Given the description of an element on the screen output the (x, y) to click on. 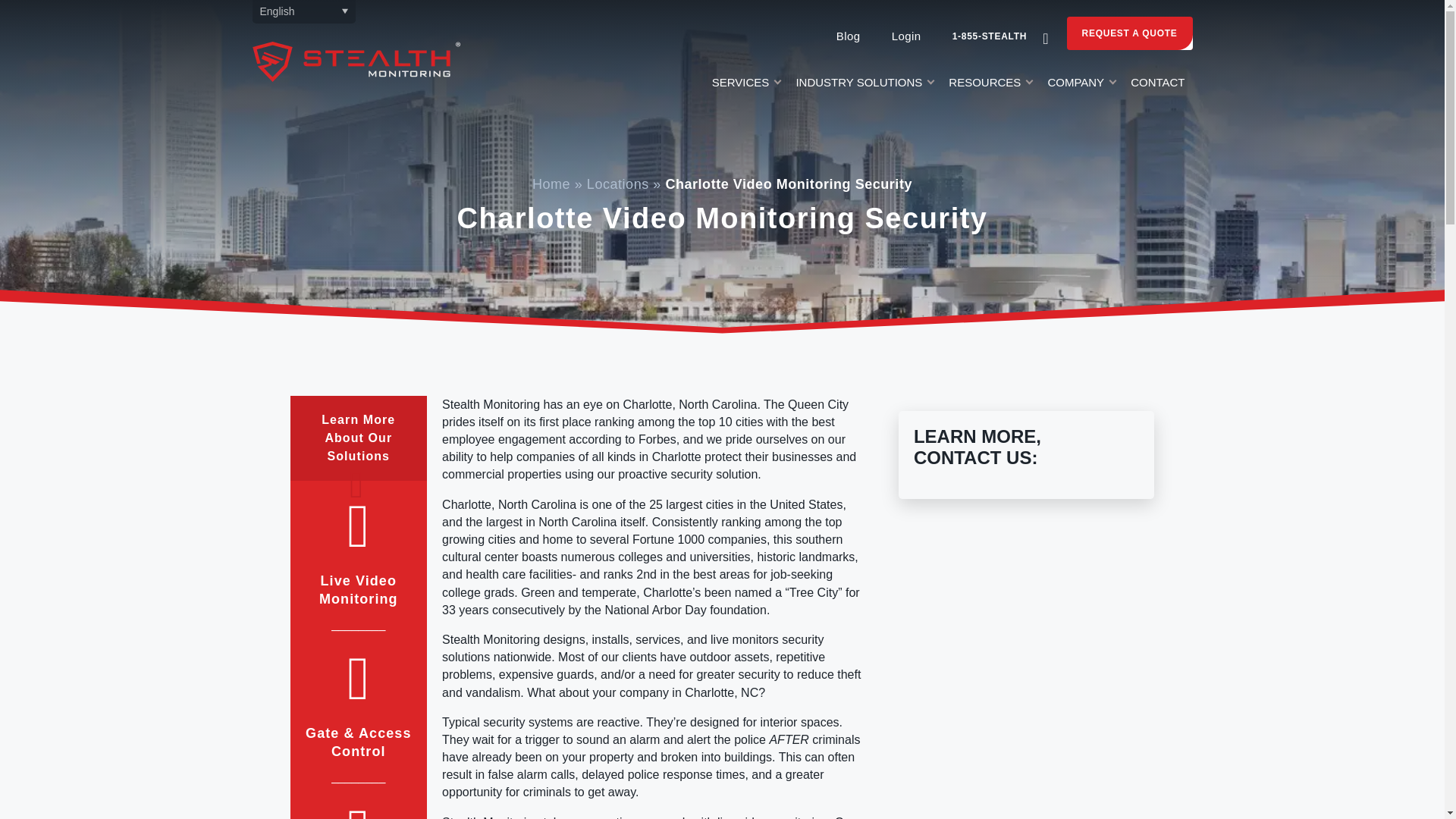
Login (906, 36)
INDUSTRY SOLUTIONS (863, 87)
Blog (848, 36)
logo-tr (355, 60)
SERVICES (746, 87)
REQUEST A QUOTE (1129, 32)
1-855-STEALTH (989, 36)
